Given the description of an element on the screen output the (x, y) to click on. 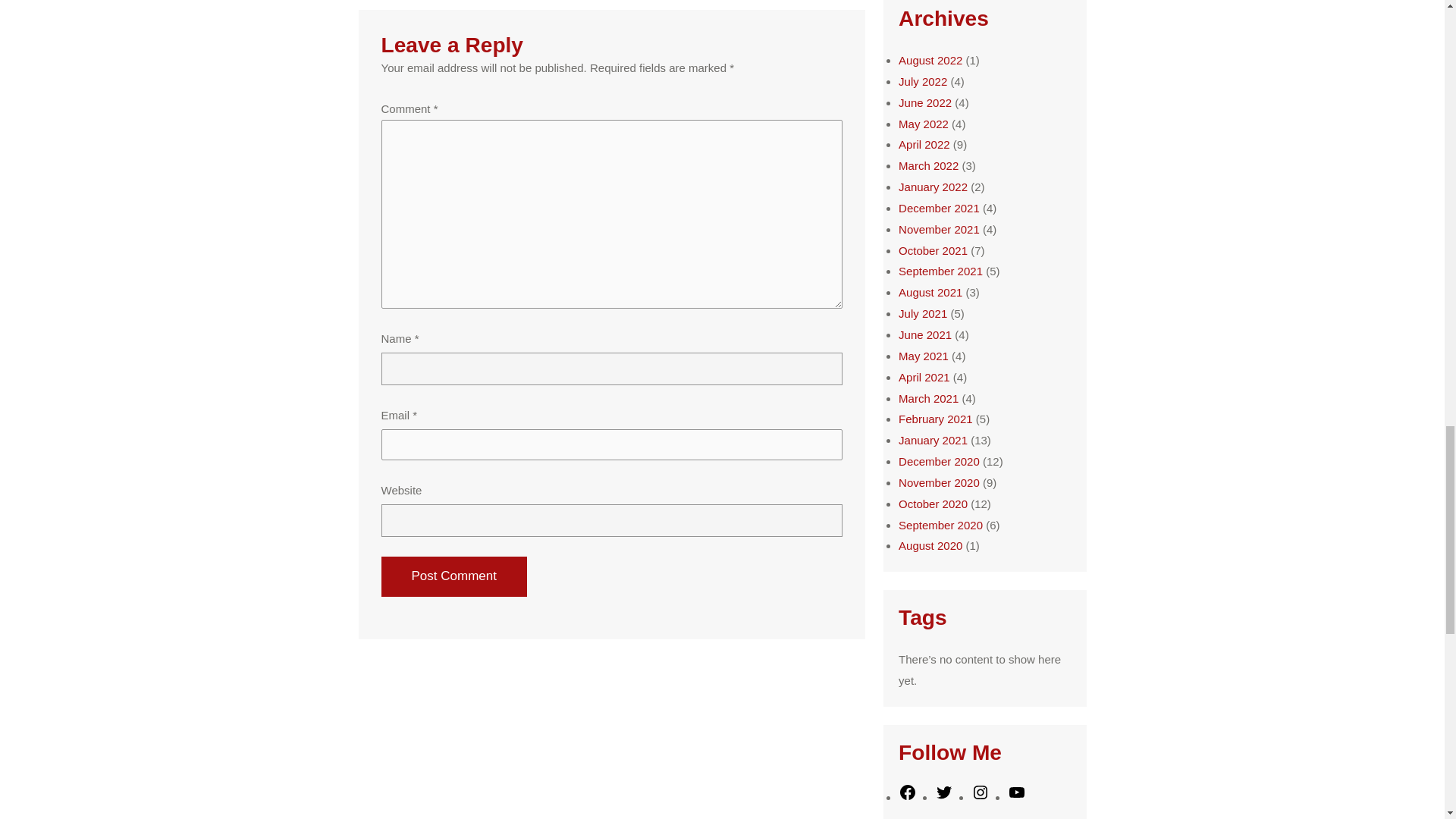
May 2022 (923, 123)
June 2022 (925, 102)
July 2022 (922, 81)
Post Comment (452, 576)
Post Comment (452, 576)
August 2022 (930, 60)
